Given the description of an element on the screen output the (x, y) to click on. 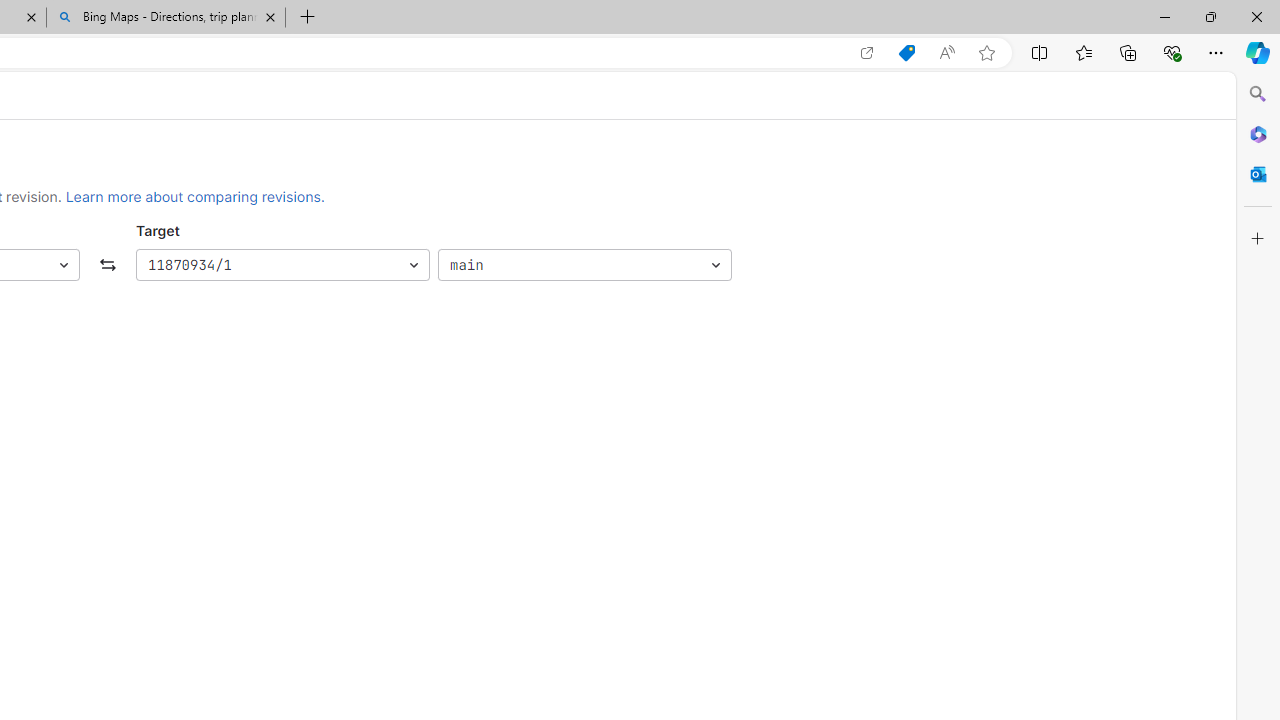
Open in app (867, 53)
11870934/1 (282, 265)
Learn more about comparing revisions. (195, 196)
